Given the description of an element on the screen output the (x, y) to click on. 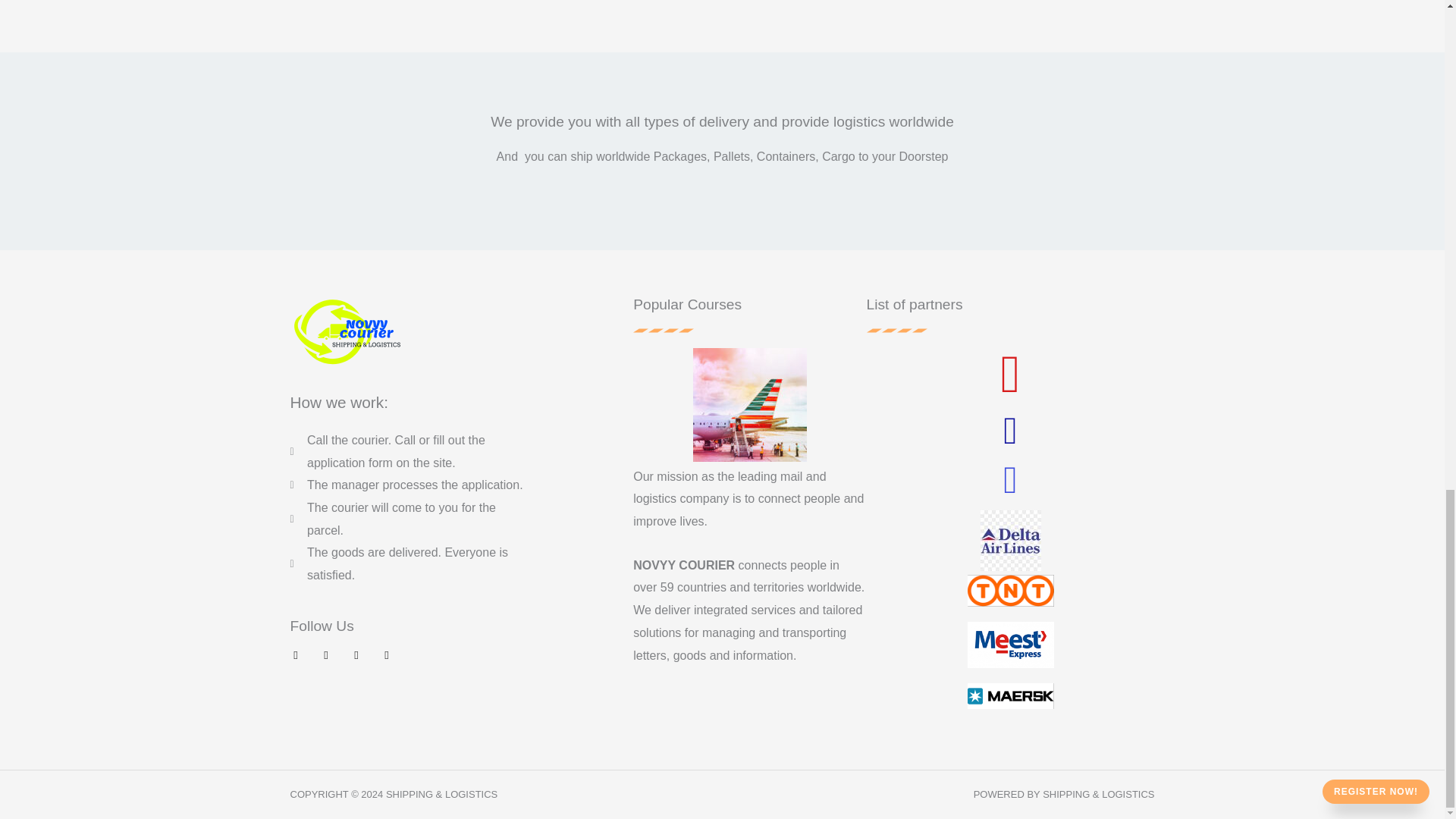
delta airlines (1010, 540)
five Tips For Women of all ages to Succeed in Ma (61, 1)
Youtube (385, 655)
Twitter (325, 655)
The Ultimate Guide To Online Dating (1393, 1)
Facebook (295, 655)
Pinterest (355, 655)
